Given the description of an element on the screen output the (x, y) to click on. 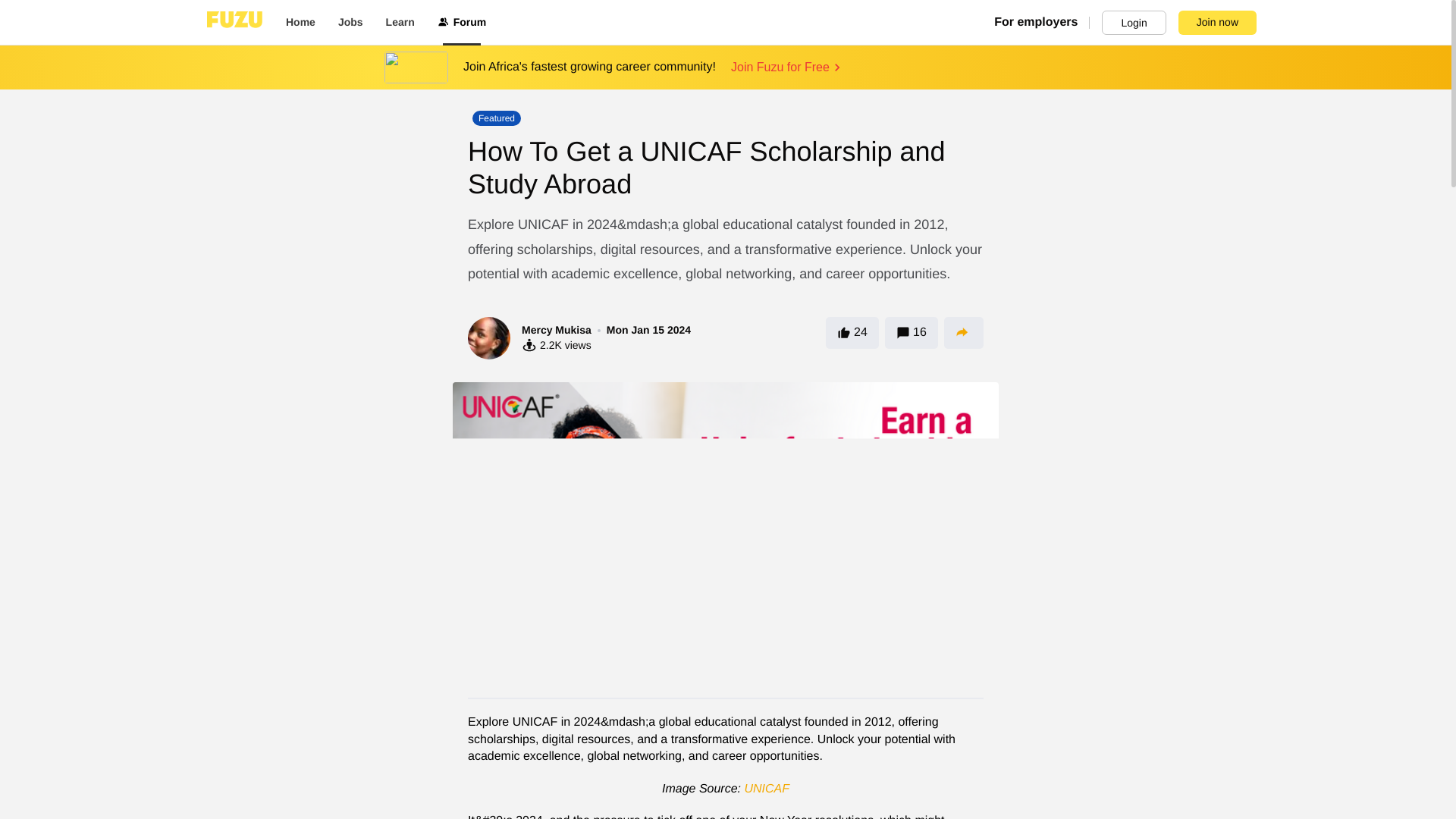
16 (911, 332)
Learn (400, 22)
Join now (1216, 22)
For employers (1041, 22)
UNICAF (766, 789)
Forum (461, 22)
Login (1134, 22)
Join Fuzu for Free (787, 67)
Jobs (350, 22)
24 (852, 332)
